Given the description of an element on the screen output the (x, y) to click on. 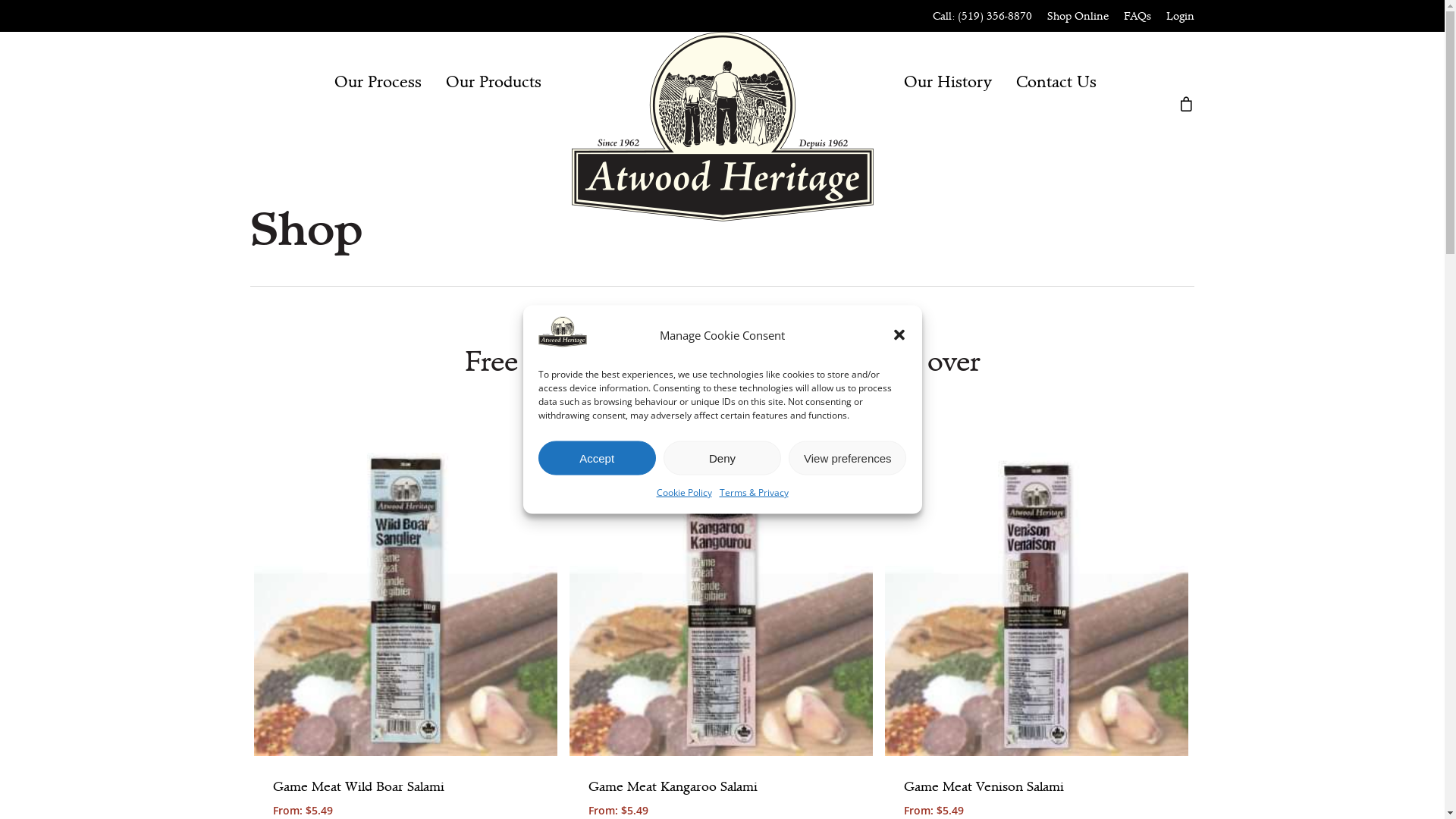
Deny Element type: text (722, 458)
Contact Us Element type: text (1056, 81)
Cookie Policy Element type: text (684, 492)
Game Meat Kangaroo Salami Element type: text (720, 786)
Accept Element type: text (596, 458)
View preferences Element type: text (847, 458)
Our Products Element type: text (493, 81)
FAQs Element type: text (1137, 15)
Our Process Element type: text (376, 81)
Shop Online Element type: text (1077, 15)
Call: (519) 356-8870 Element type: text (982, 15)
Game Meat Venison Salami Element type: text (1036, 786)
Terms & Privacy Element type: text (752, 492)
Login Element type: text (1180, 15)
Our History Element type: text (947, 81)
Game Meat Wild Boar Salami Element type: text (405, 786)
